Given the description of an element on the screen output the (x, y) to click on. 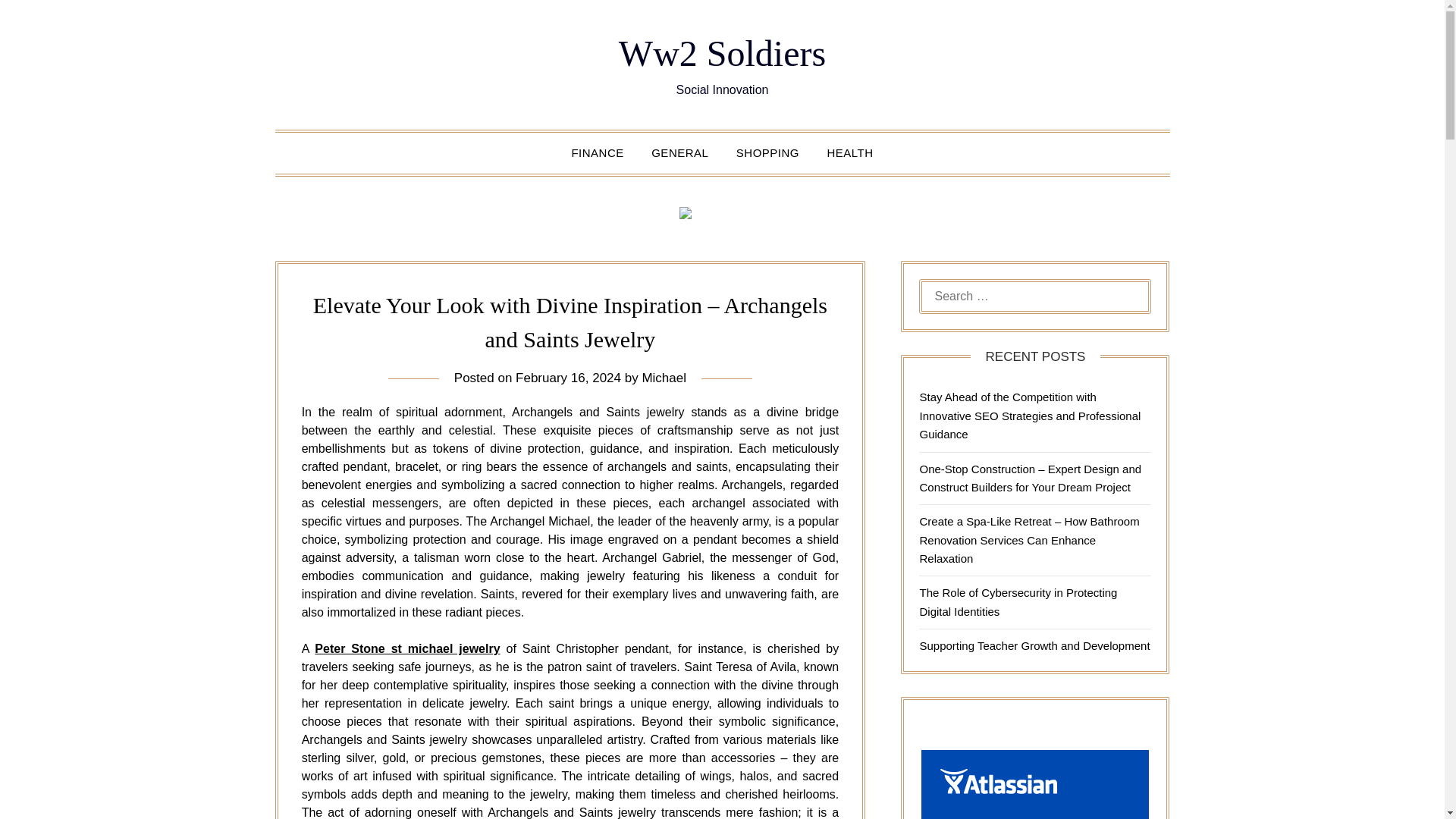
Search (38, 22)
February 16, 2024 (568, 377)
Supporting Teacher Growth and Development (1034, 645)
HEALTH (849, 152)
FINANCE (596, 152)
Michael (663, 377)
SHOPPING (766, 152)
Ww2 Soldiers (721, 53)
Peter Stone st michael jewelry (406, 648)
The Role of Cybersecurity in Protecting Digital Identities (1017, 601)
GENERAL (679, 152)
